Given the description of an element on the screen output the (x, y) to click on. 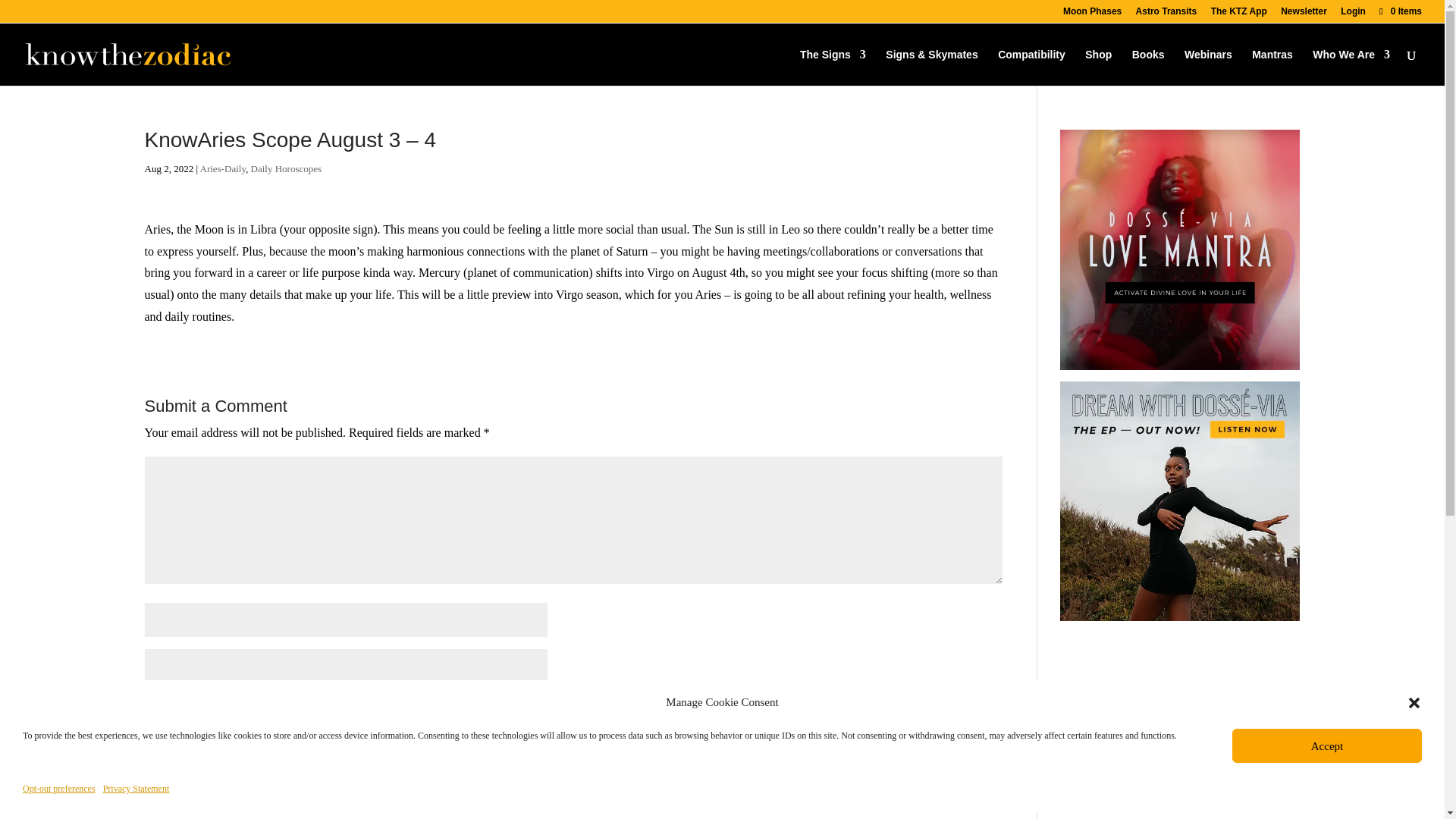
Compatibility (1031, 67)
Mantras (1272, 67)
The KTZ App (1238, 14)
Submit Comment (936, 790)
0 Items (1399, 10)
Astro Transits (1165, 14)
yes (152, 750)
Opt-out preferences (59, 789)
Webinars (1208, 67)
The Signs (832, 67)
Who We Are (1351, 67)
Books (1148, 67)
Newsletter (1303, 14)
Privacy Statement (136, 789)
Login (1352, 14)
